Given the description of an element on the screen output the (x, y) to click on. 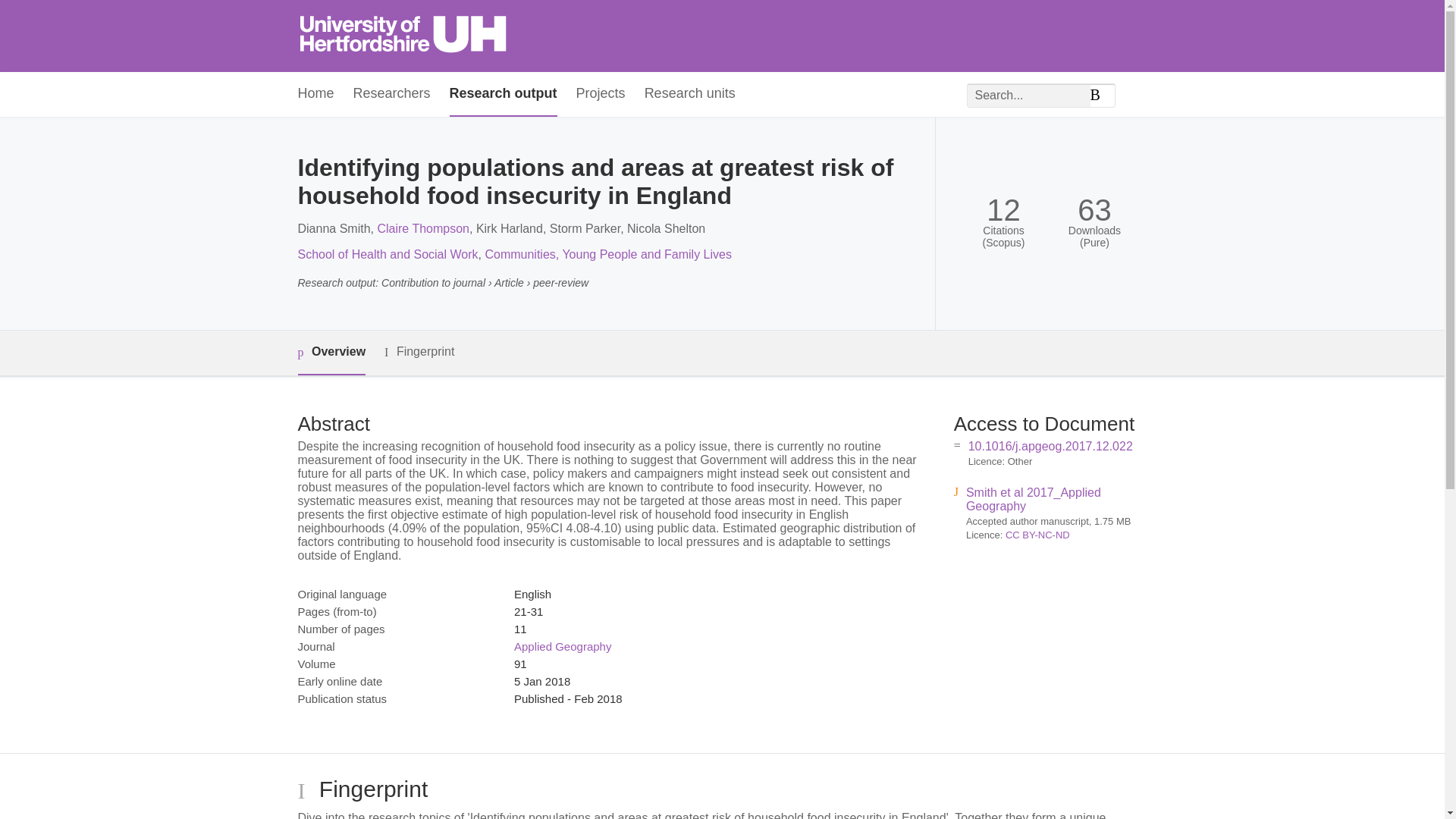
Fingerprint (419, 351)
School of Health and Social Work (387, 254)
Communities, Young People and Family Lives (608, 254)
Projects (601, 94)
Research output (503, 94)
Research units (690, 94)
Applied Geography (562, 645)
CC BY-NC-ND (1038, 534)
Overview (331, 352)
